Given the description of an element on the screen output the (x, y) to click on. 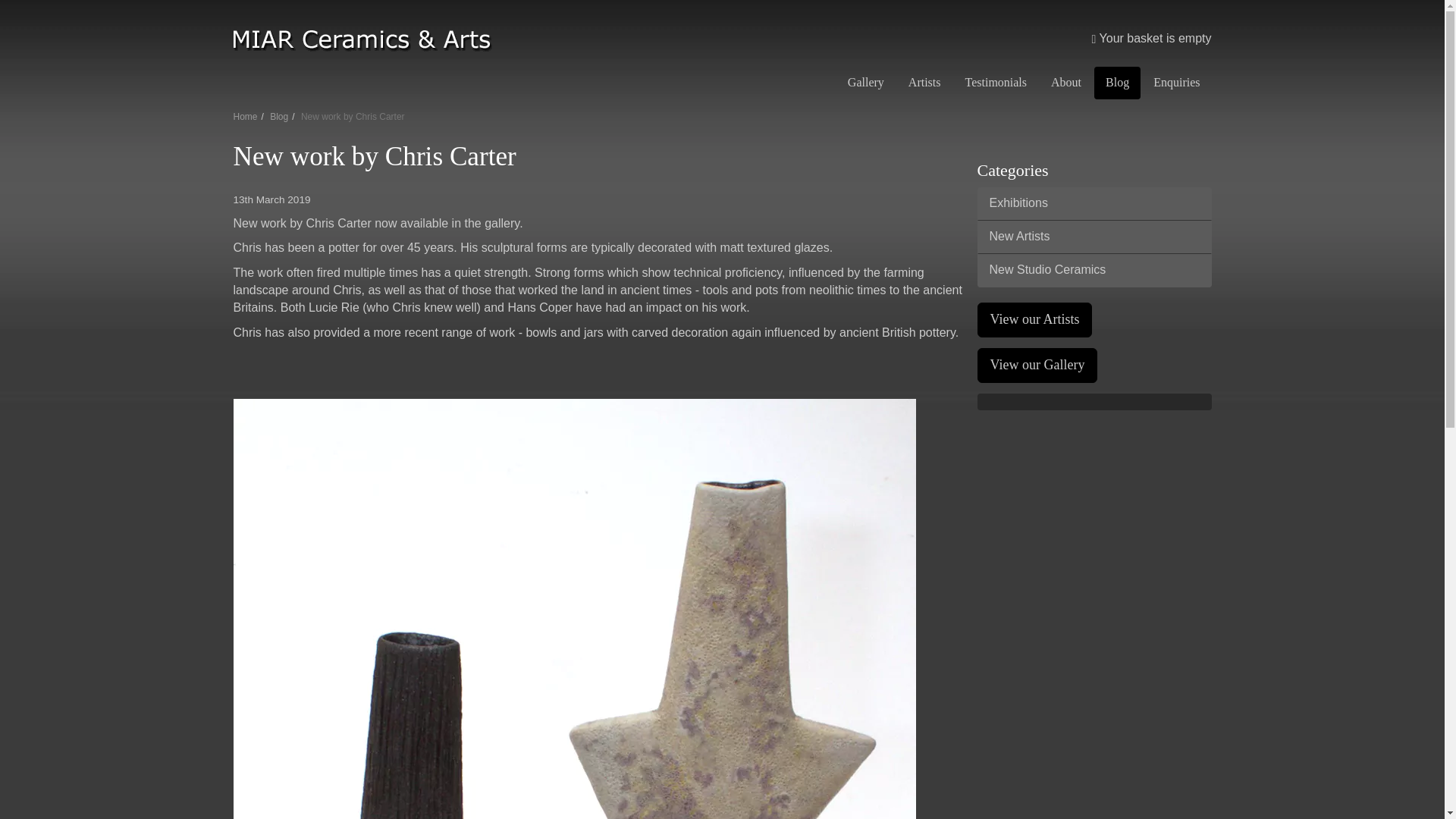
New Artists (1093, 236)
New Studio Ceramics (1093, 270)
View our Artists (1034, 319)
Enquiries (1176, 82)
Gallery (865, 82)
About (1066, 82)
Gallery (865, 82)
View our Gallery (1036, 365)
Blog (278, 116)
Testimonials (996, 82)
Artists (924, 82)
Exhibitions (1093, 203)
Home (244, 116)
About (1066, 82)
Blog (1117, 82)
